Given the description of an element on the screen output the (x, y) to click on. 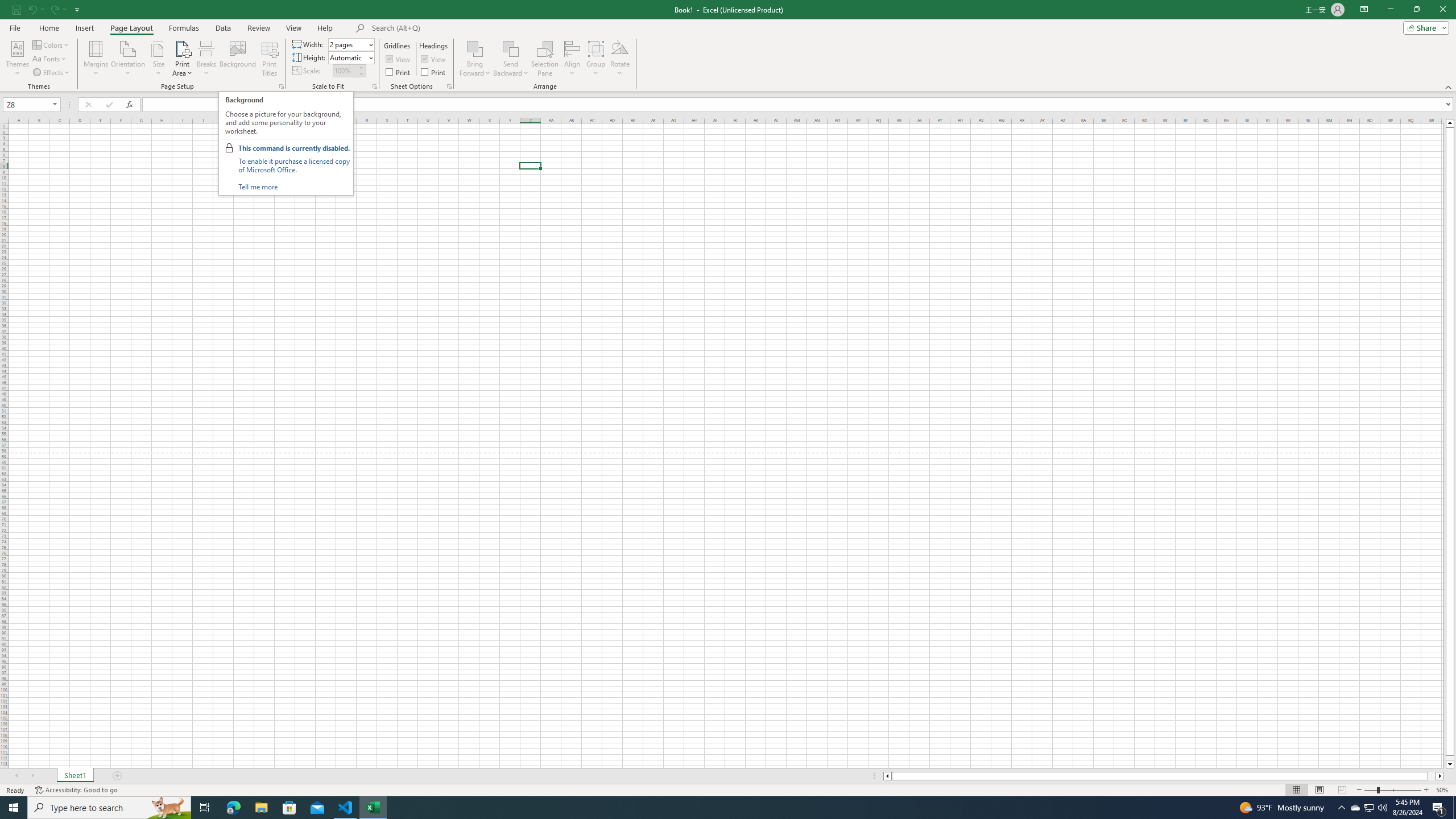
Themes (17, 58)
Print Titles (269, 58)
Selection Pane... (544, 58)
Height (350, 56)
Group (595, 58)
Send Backward (510, 58)
